Given the description of an element on the screen output the (x, y) to click on. 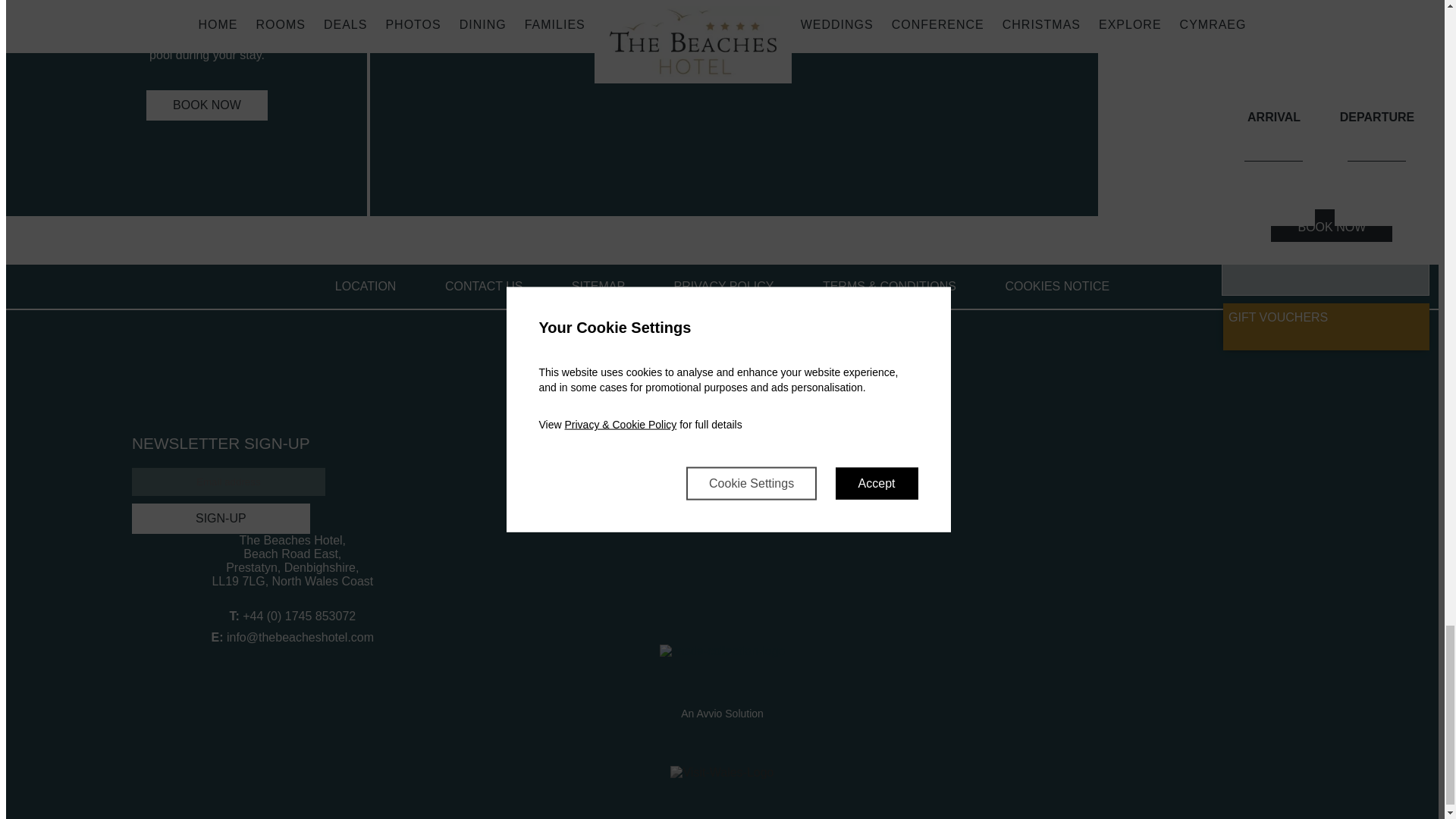
Call Us (299, 615)
Email Us (300, 636)
Follow us on Twitter (705, 680)
Follow us on Instagram (738, 680)
Follow us on Facebook (671, 680)
Go to Visit Wales (721, 772)
Follow us on LinkedIn (772, 680)
Castle Collection Hotels (721, 651)
